Given the description of an element on the screen output the (x, y) to click on. 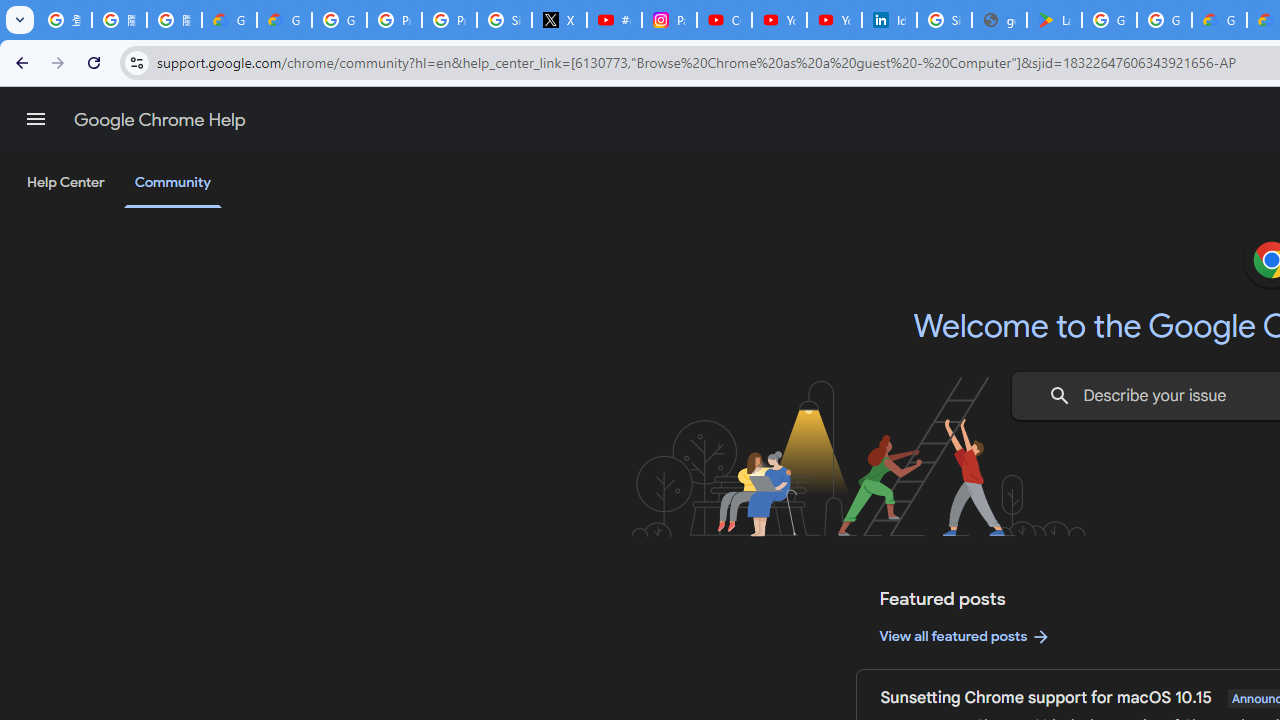
Help Center (65, 183)
Main menu (35, 119)
X (559, 20)
Community (171, 183)
View all featured posts (965, 636)
#nbabasketballhighlights - YouTube (614, 20)
Google Chrome Help (159, 119)
